Given the description of an element on the screen output the (x, y) to click on. 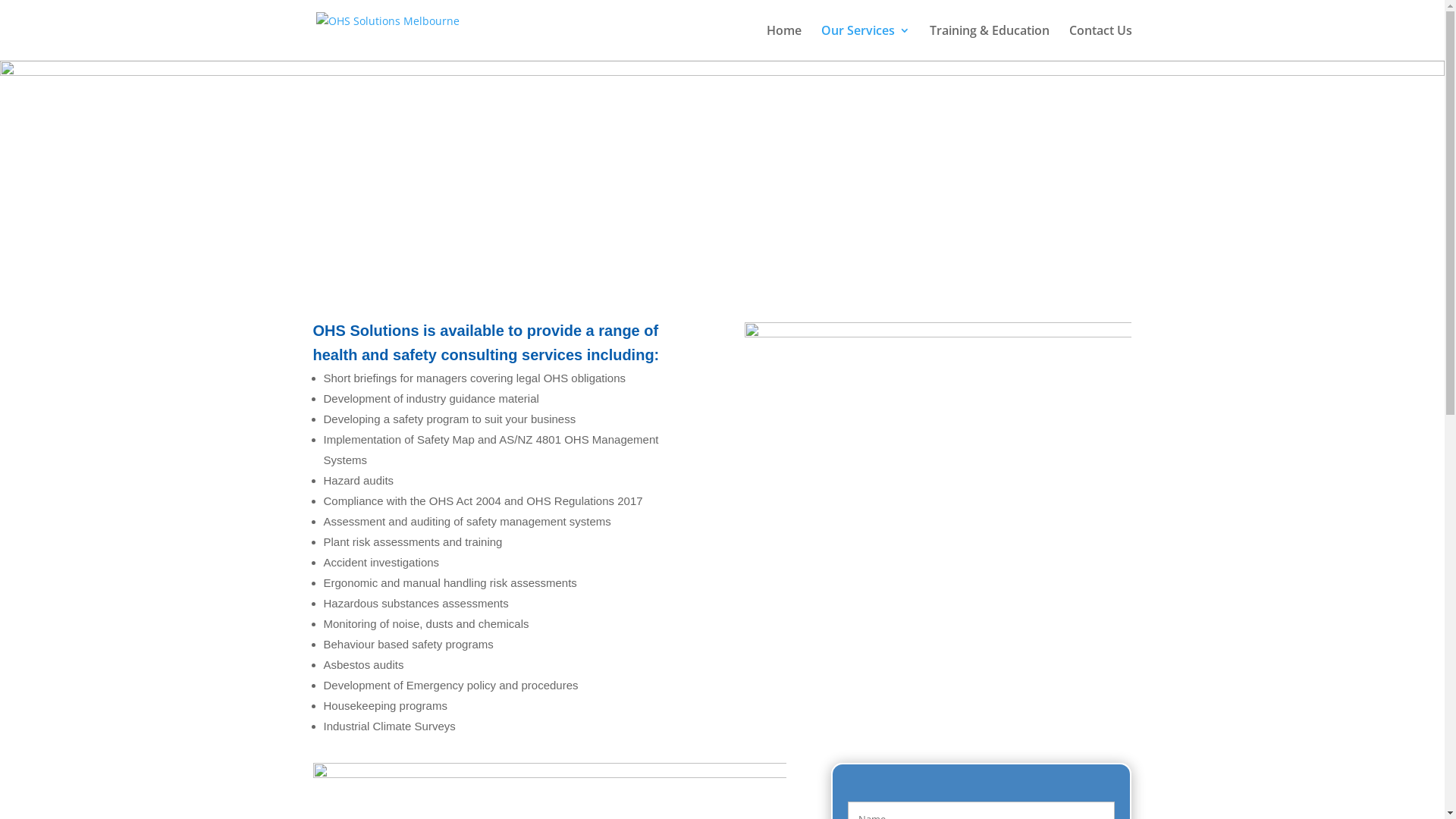
Home Element type: text (782, 42)
Ohs Solutions Element type: hover (722, 173)
Physiotherapist Working With Patient Arm Element type: hover (937, 515)
Training & Education Element type: text (989, 42)
Our Services Element type: text (864, 42)
Contact Us Element type: text (1100, 42)
